Given the description of an element on the screen output the (x, y) to click on. 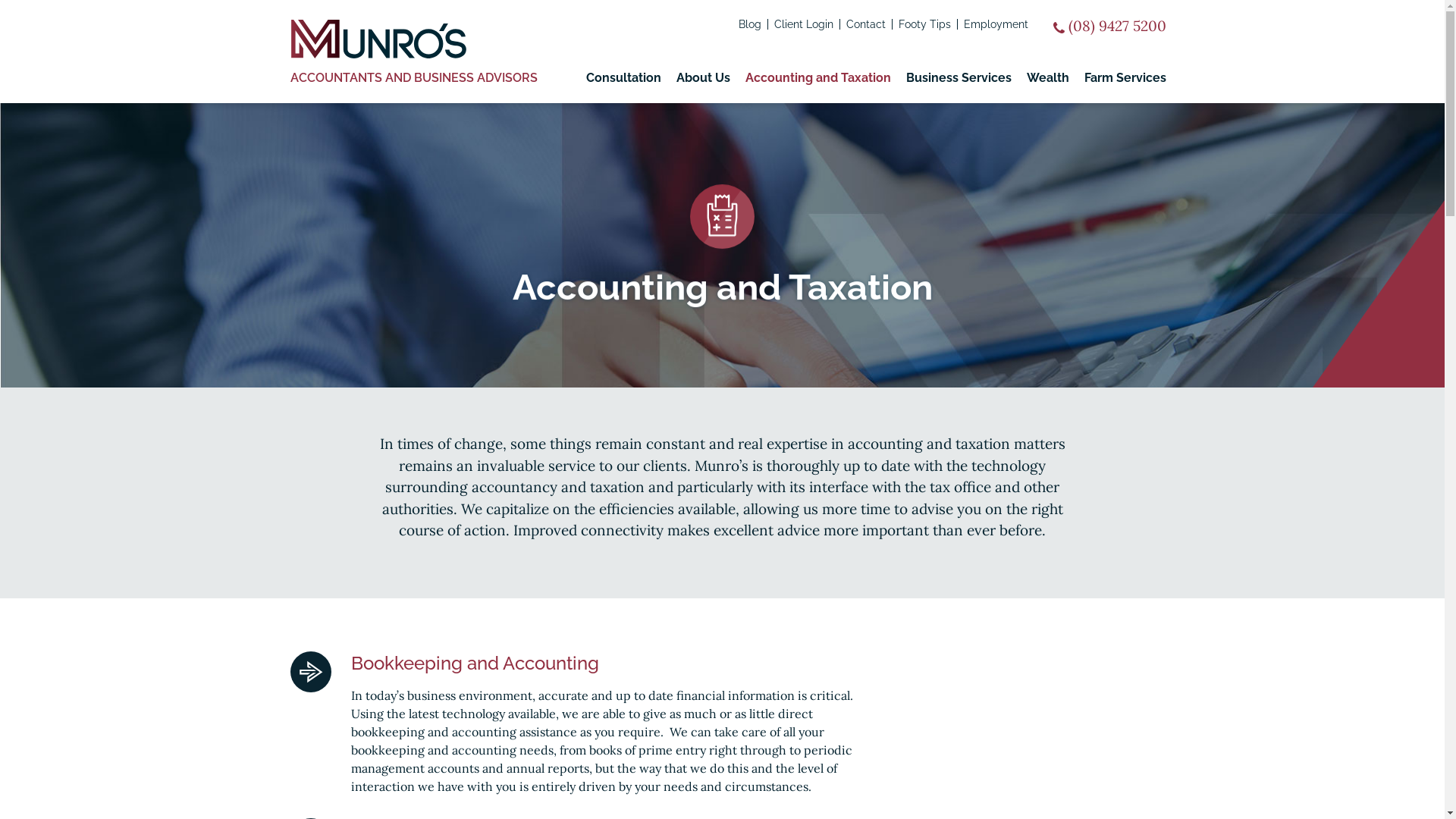
Consultation Element type: text (622, 78)
Client Login Element type: text (802, 23)
Contact Element type: text (865, 23)
Business Services Element type: text (957, 78)
Footy Tips Element type: text (923, 23)
Farm Services Element type: text (1125, 78)
ACCOUNTANTS AND BUSINESS ADVISORS Element type: text (412, 78)
Accounting and Taxation Element type: text (817, 78)
Blog Element type: text (749, 23)
Employment Element type: text (995, 23)
Wealth Element type: text (1047, 78)
About Us Element type: text (703, 78)
